Given the description of an element on the screen output the (x, y) to click on. 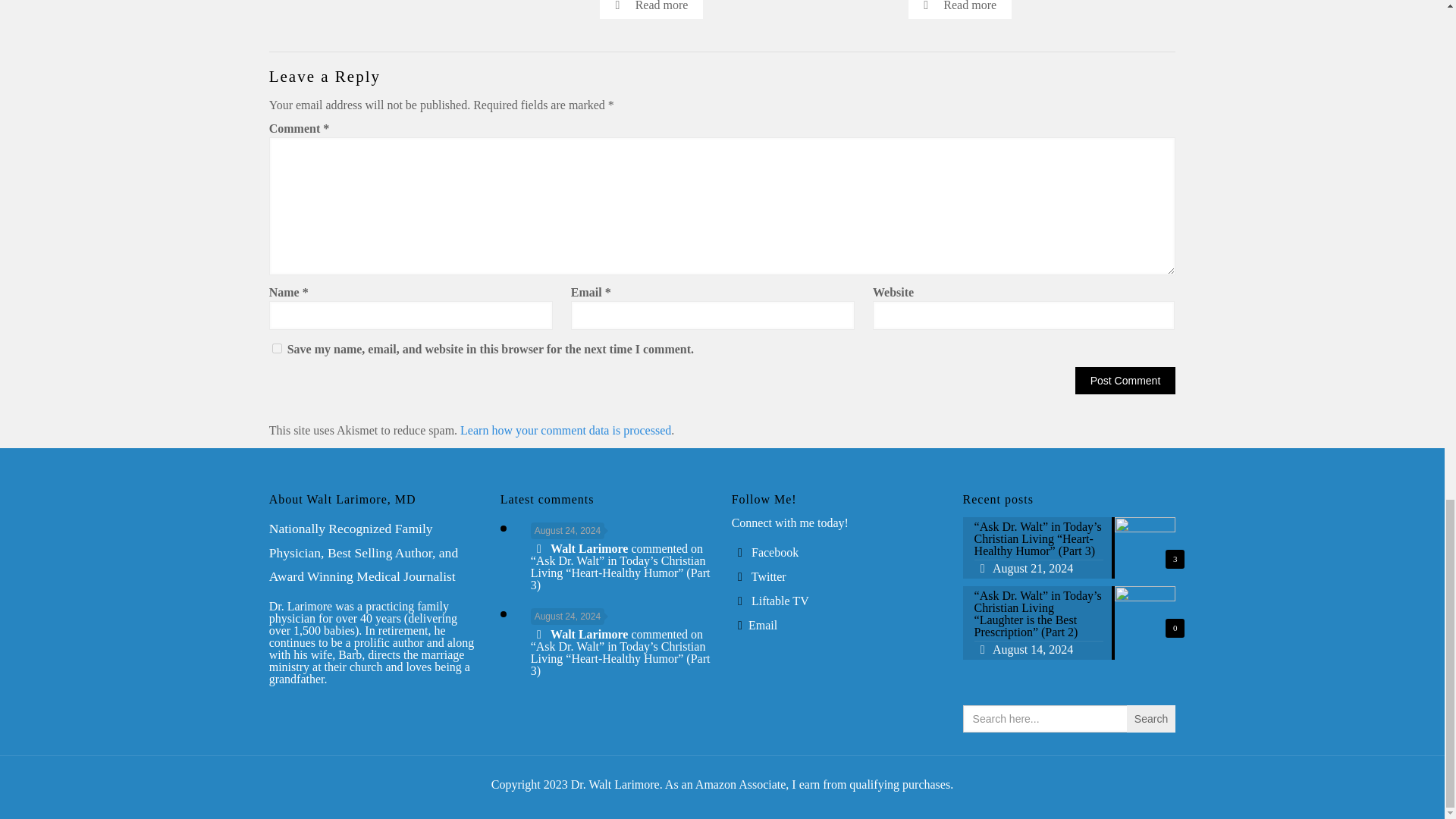
Search (1150, 718)
Post Comment (1125, 379)
yes (277, 347)
Search (1150, 718)
